Given the description of an element on the screen output the (x, y) to click on. 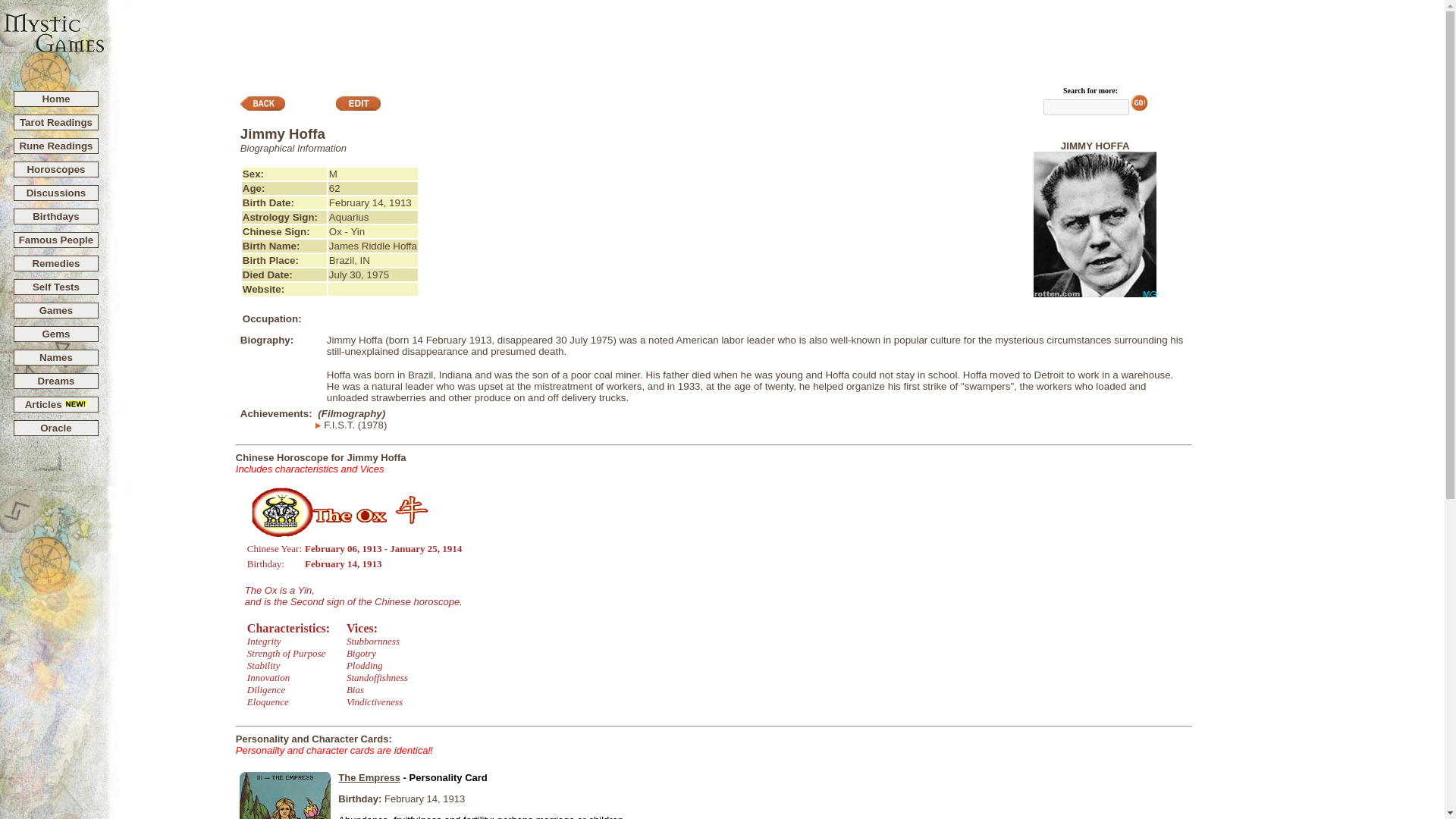
Discussions (55, 193)
Oracle (55, 428)
Articles (55, 404)
Tarot Readings (56, 122)
Horoscopes (55, 169)
Dreams (56, 380)
Home (55, 98)
Names (55, 357)
Self Tests (56, 286)
Gems (55, 333)
Rune Readings (55, 145)
Games (55, 310)
Go (1139, 102)
Remedies (56, 263)
Birthdays (55, 215)
